Given the description of an element on the screen output the (x, y) to click on. 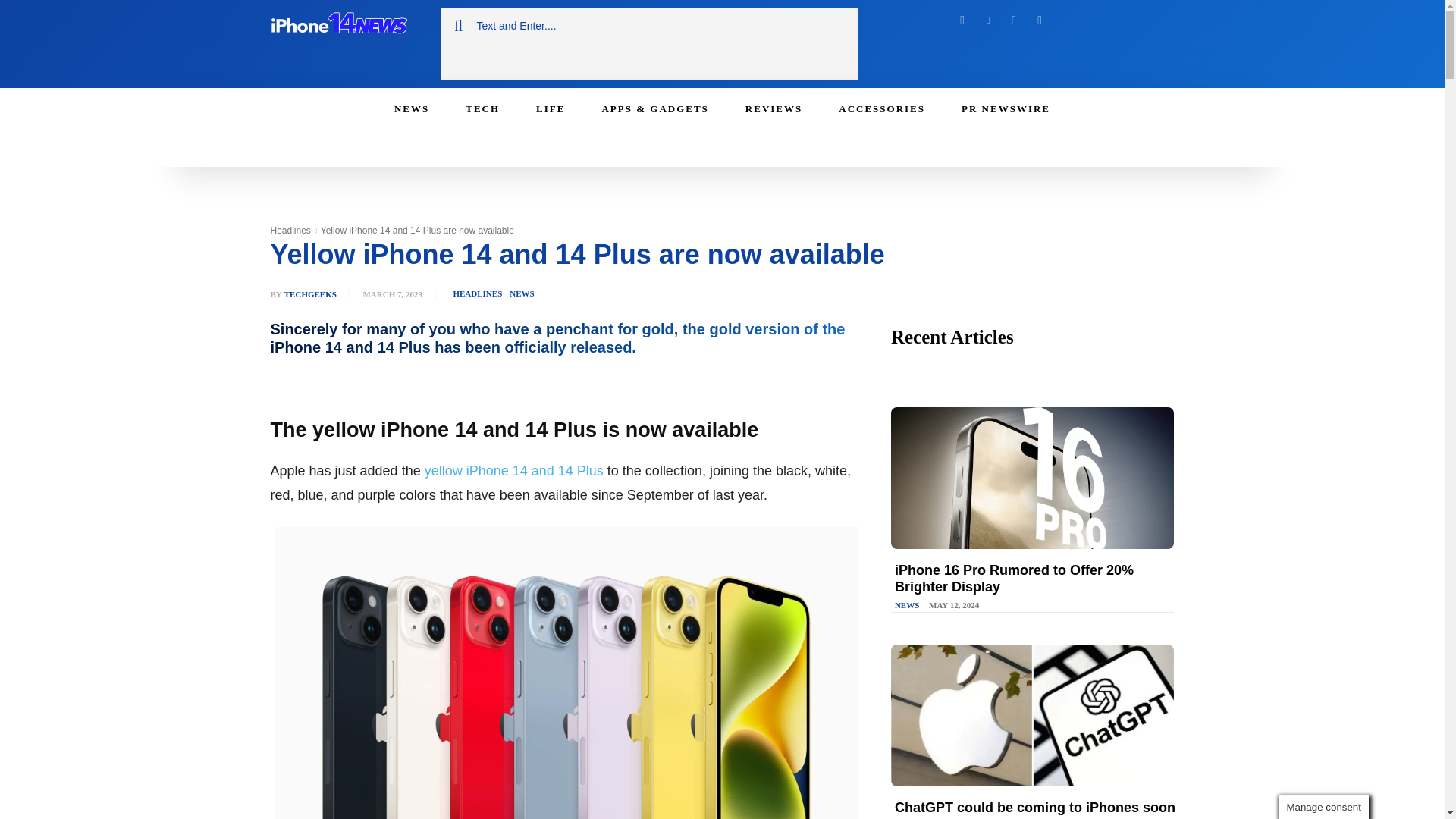
yellow iPhone 14 and 14 Plus (514, 470)
TECH (482, 108)
HEADLINES (476, 293)
TECHGEEKS (309, 294)
Youtube (1039, 20)
ACCESSORIES (882, 108)
Twitter (1013, 20)
iphone 14 news (337, 26)
iphone 14 news (345, 26)
NEWS (410, 108)
Linkedin (987, 20)
LIFE (550, 108)
PR NEWSWIRE (1005, 108)
NEWS (521, 293)
REVIEWS (773, 108)
